Given the description of an element on the screen output the (x, y) to click on. 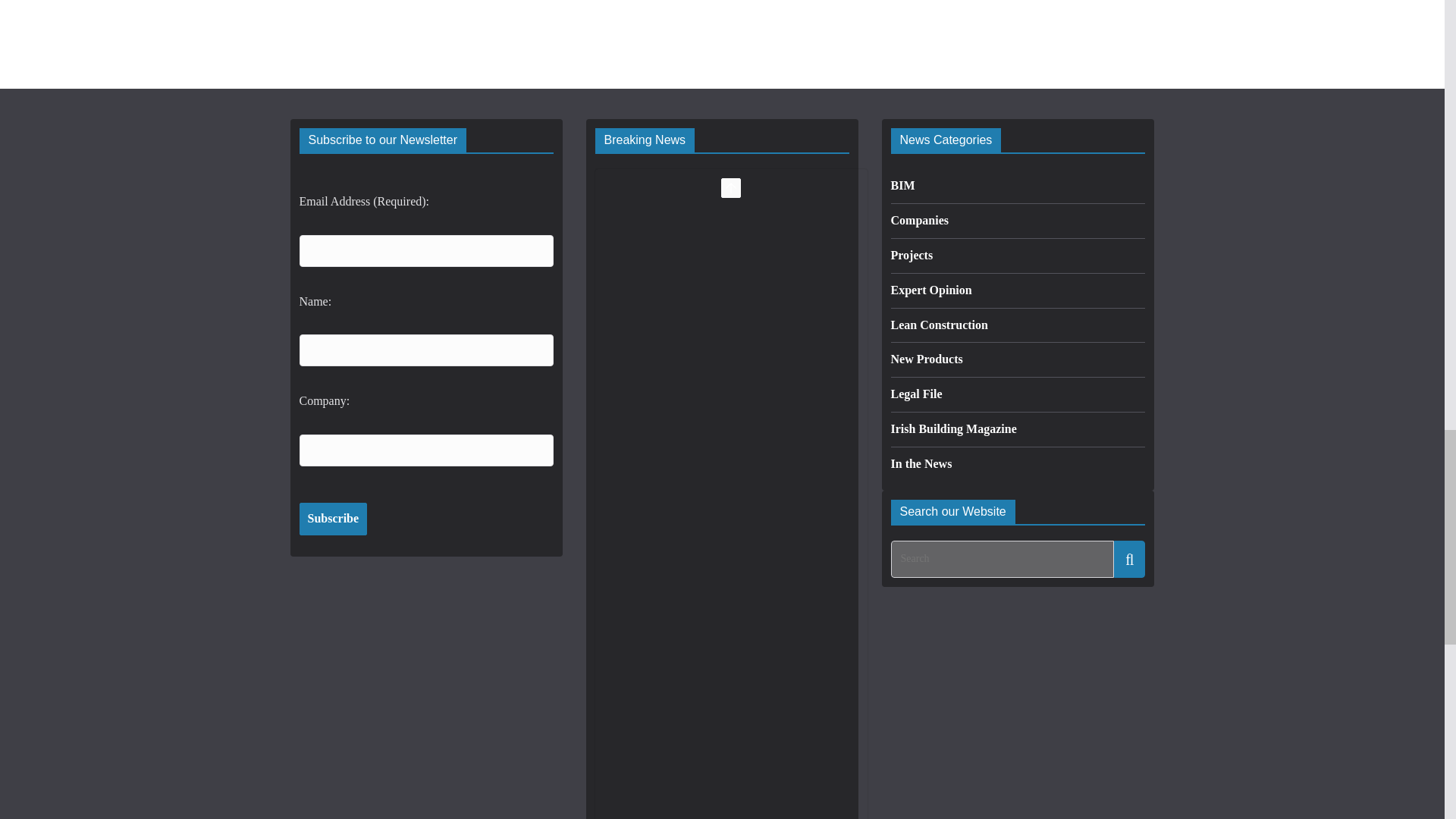
Subscribe (332, 518)
